Given the description of an element on the screen output the (x, y) to click on. 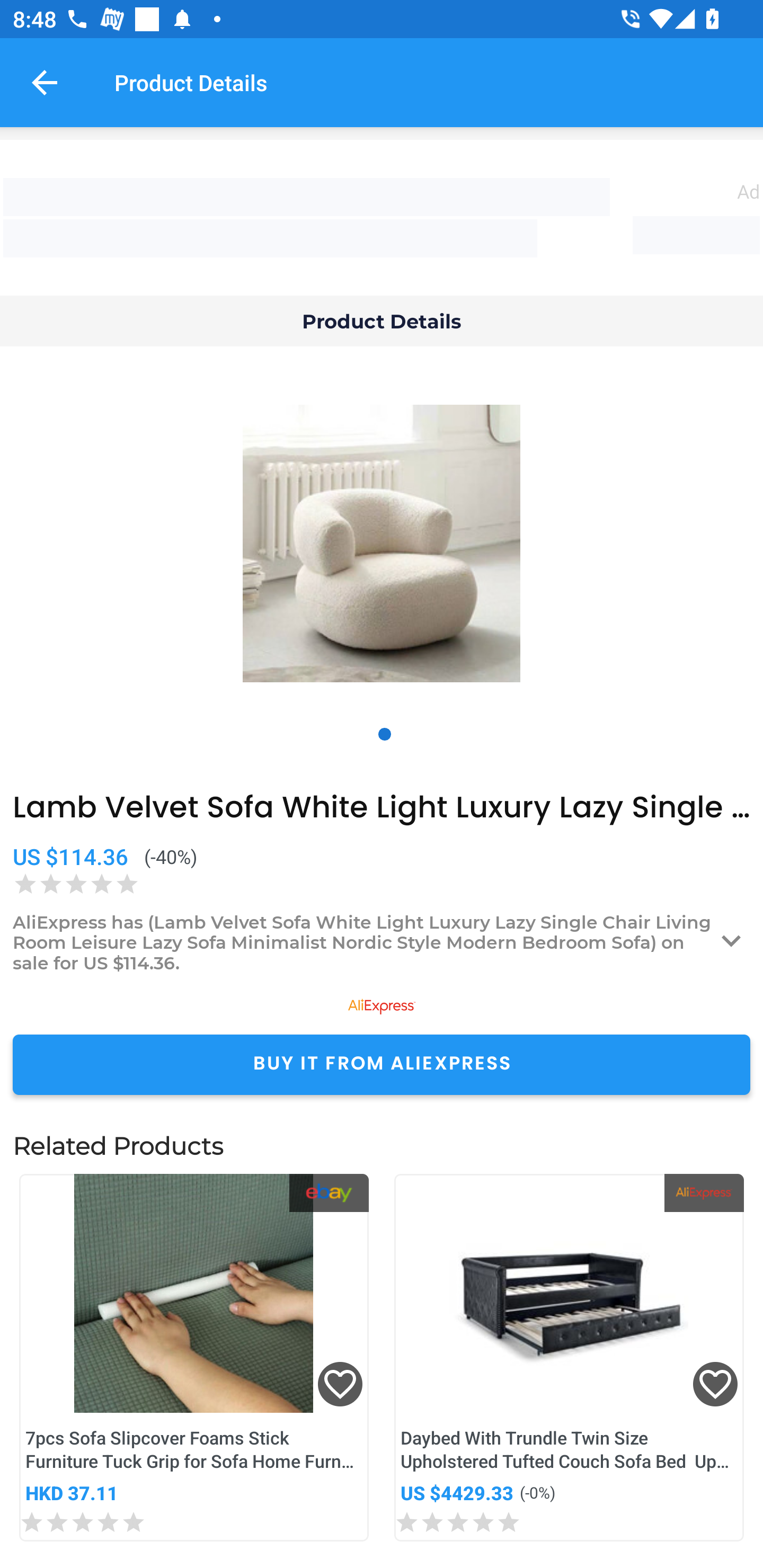
Navigate up (44, 82)
BUY IT FROM ALIEXPRESS (381, 1064)
